Given the description of an element on the screen output the (x, y) to click on. 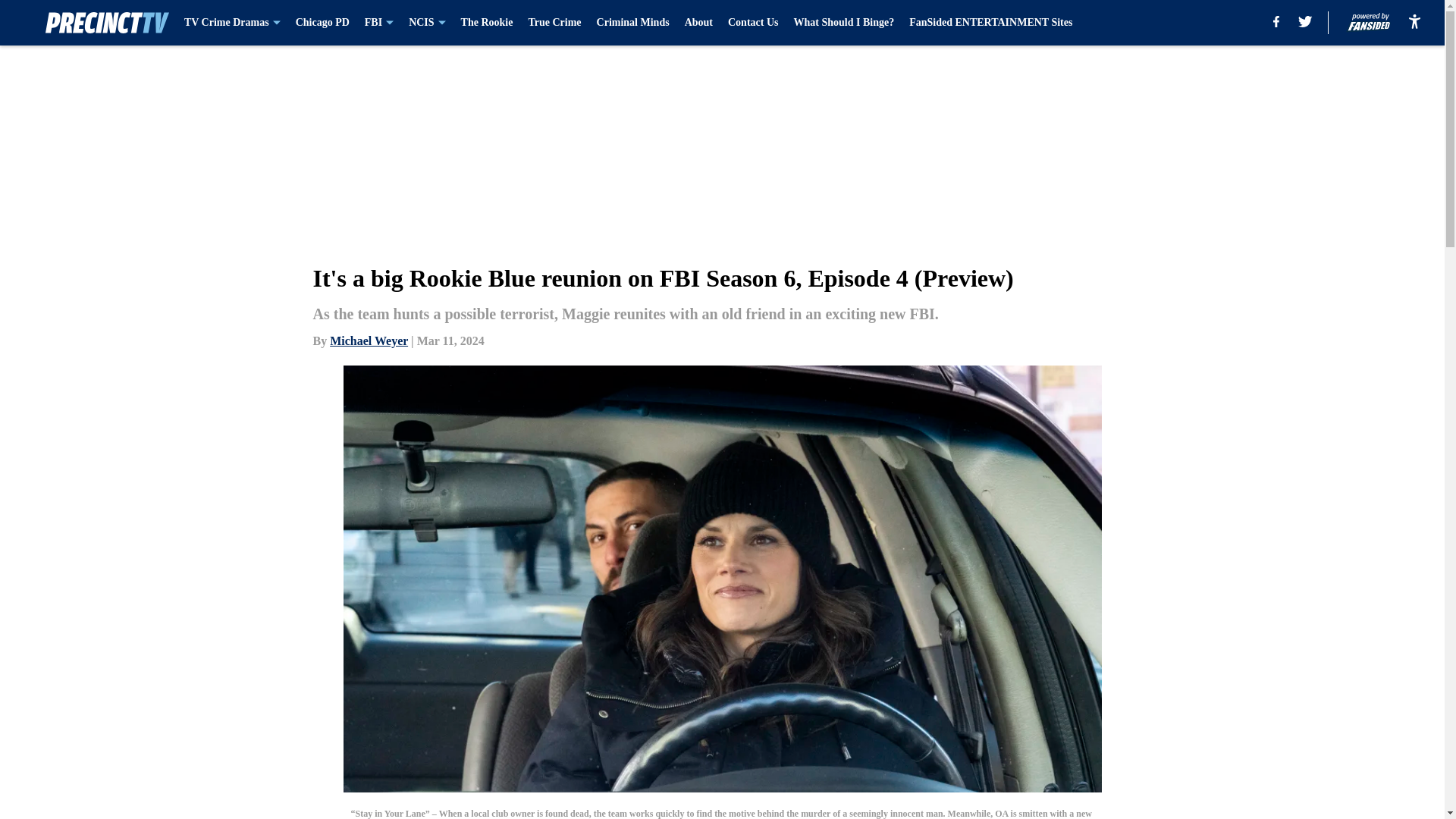
True Crime (553, 22)
Michael Weyer (368, 340)
Chicago PD (322, 22)
What Should I Binge? (843, 22)
FanSided ENTERTAINMENT Sites (989, 22)
Contact Us (753, 22)
Criminal Minds (632, 22)
About (698, 22)
The Rookie (487, 22)
